Given the description of an element on the screen output the (x, y) to click on. 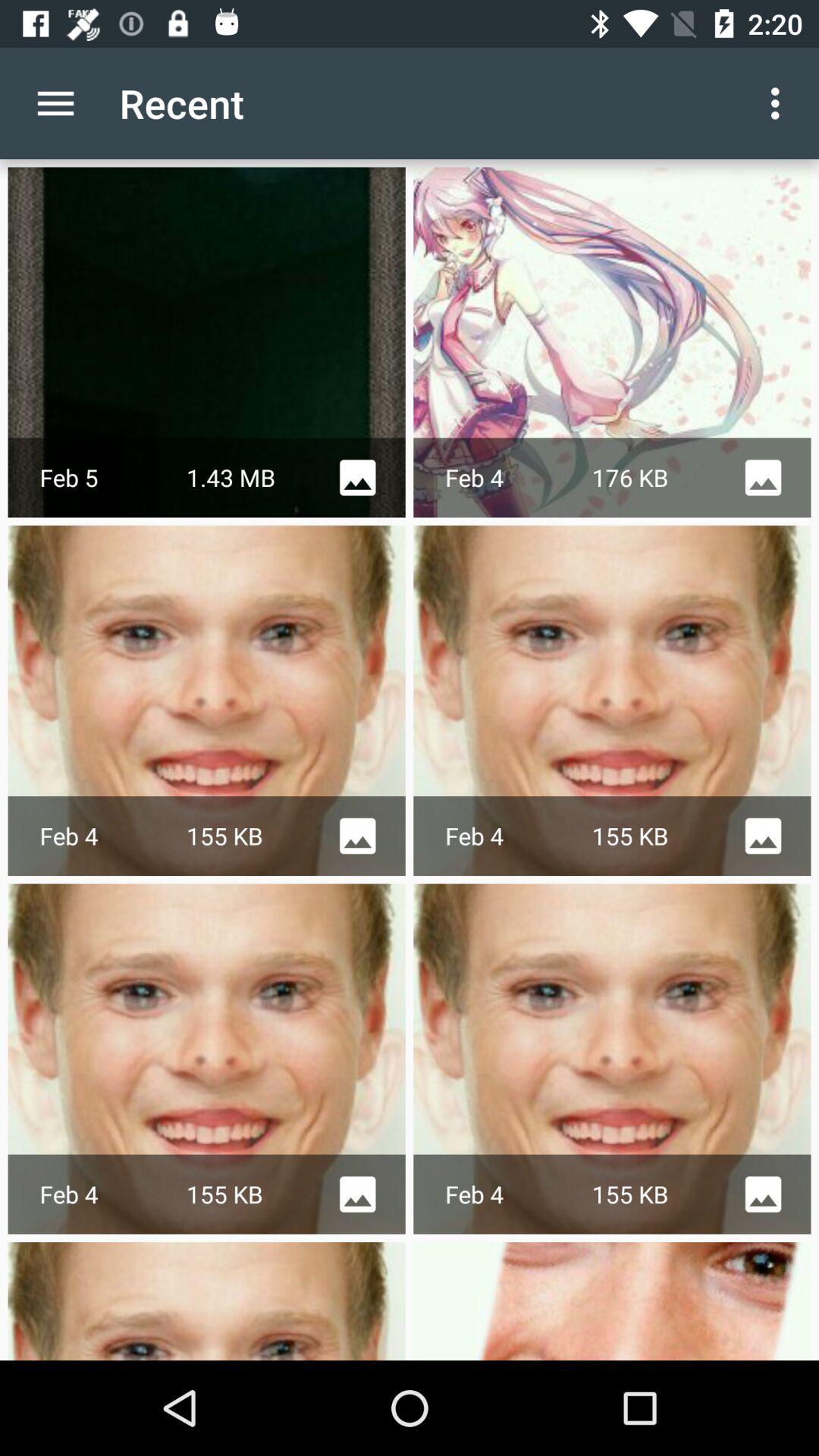
launch the icon to the right of the recent icon (779, 103)
